Given the description of an element on the screen output the (x, y) to click on. 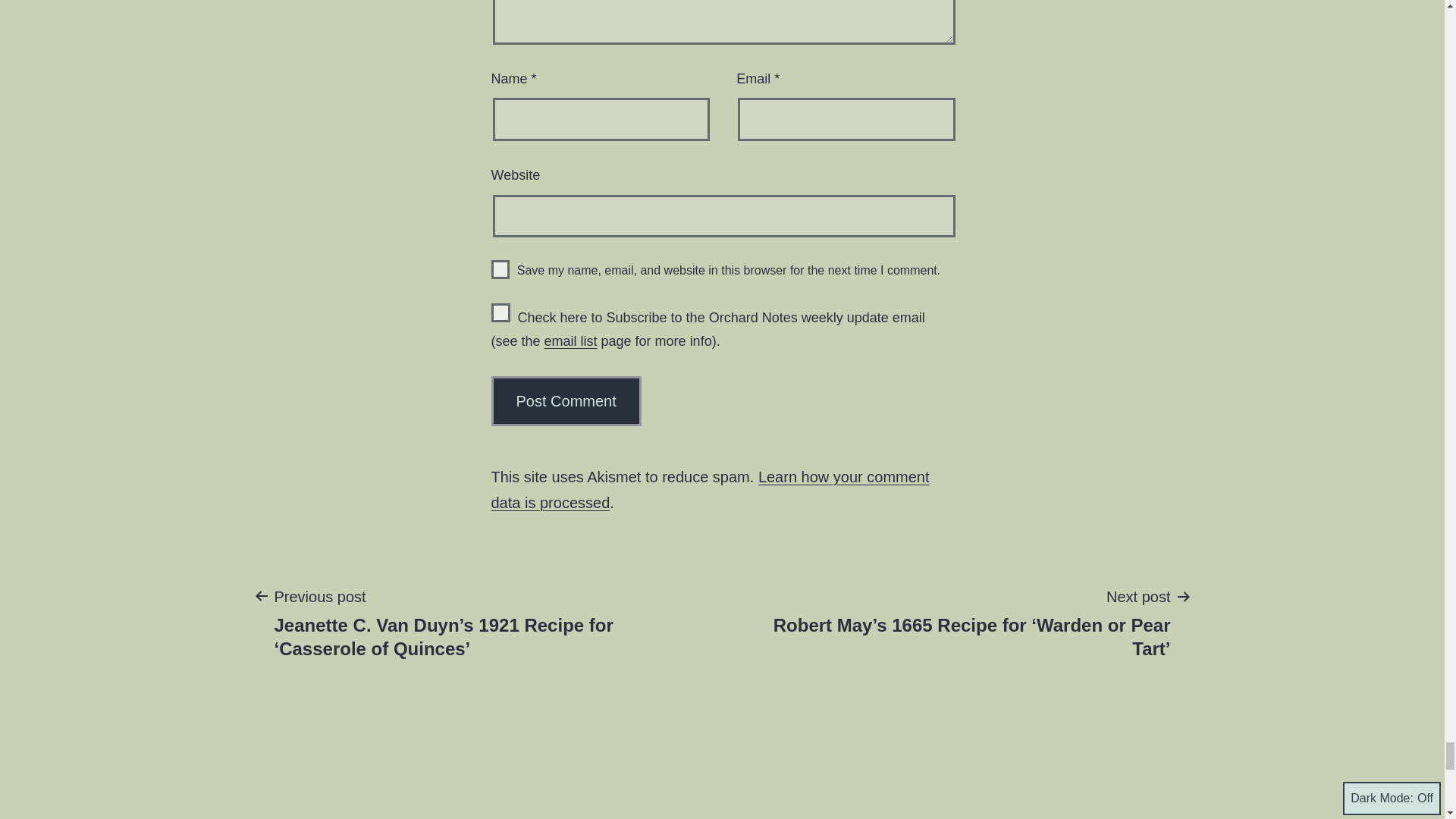
Post Comment (567, 400)
yes (500, 269)
1 (501, 312)
